Given the description of an element on the screen output the (x, y) to click on. 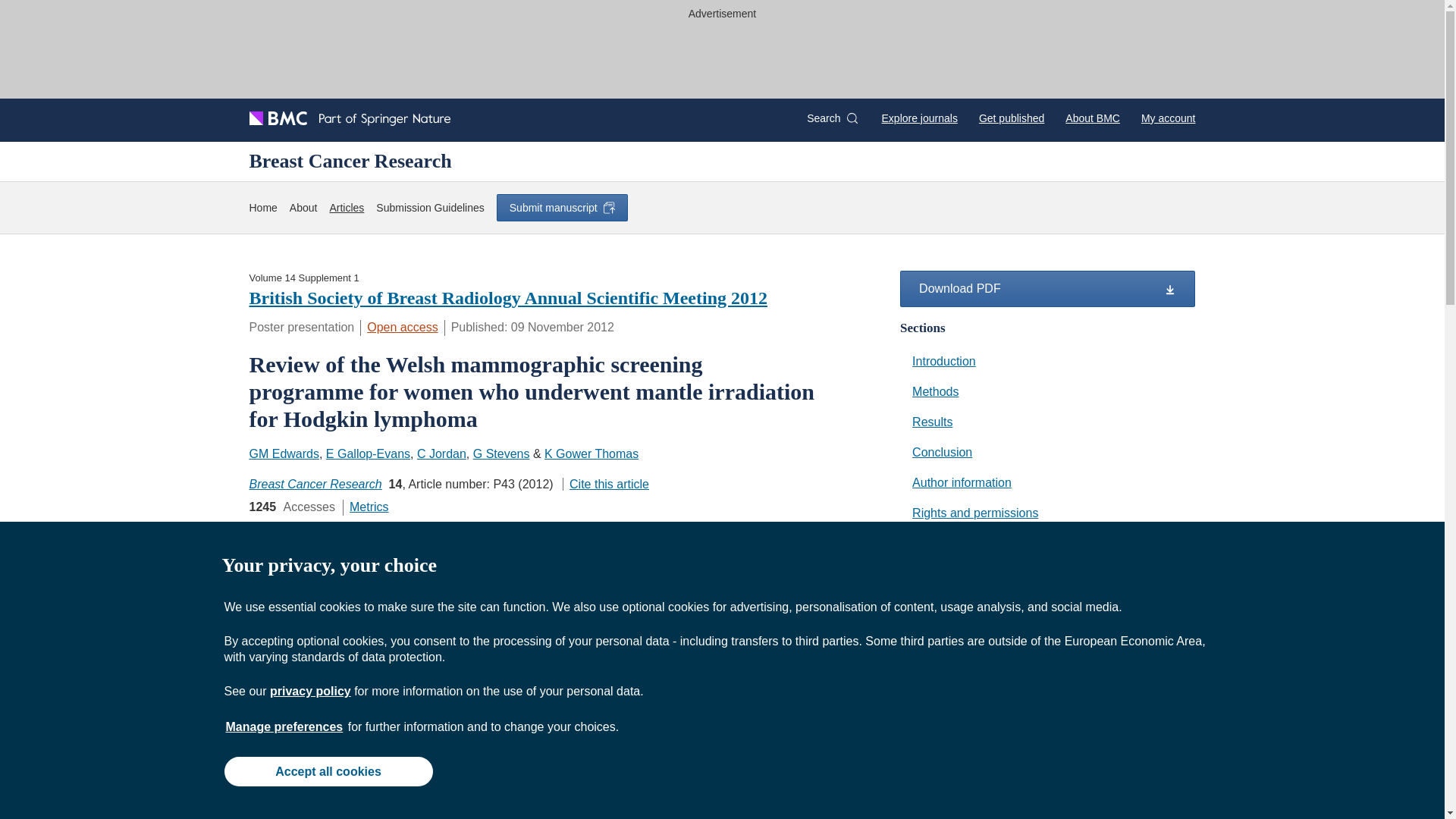
GM Edwards (283, 453)
G Stevens (501, 453)
Submit manuscript (561, 207)
Accept all cookies (328, 771)
Manage preferences (284, 726)
privacy policy (309, 690)
C Jordan (440, 453)
Breast Cancer Research (349, 160)
Breast Cancer Research (314, 483)
K Gower Thomas (591, 453)
Get published (1010, 118)
Explore journals (920, 118)
Metrics (368, 506)
